Given the description of an element on the screen output the (x, y) to click on. 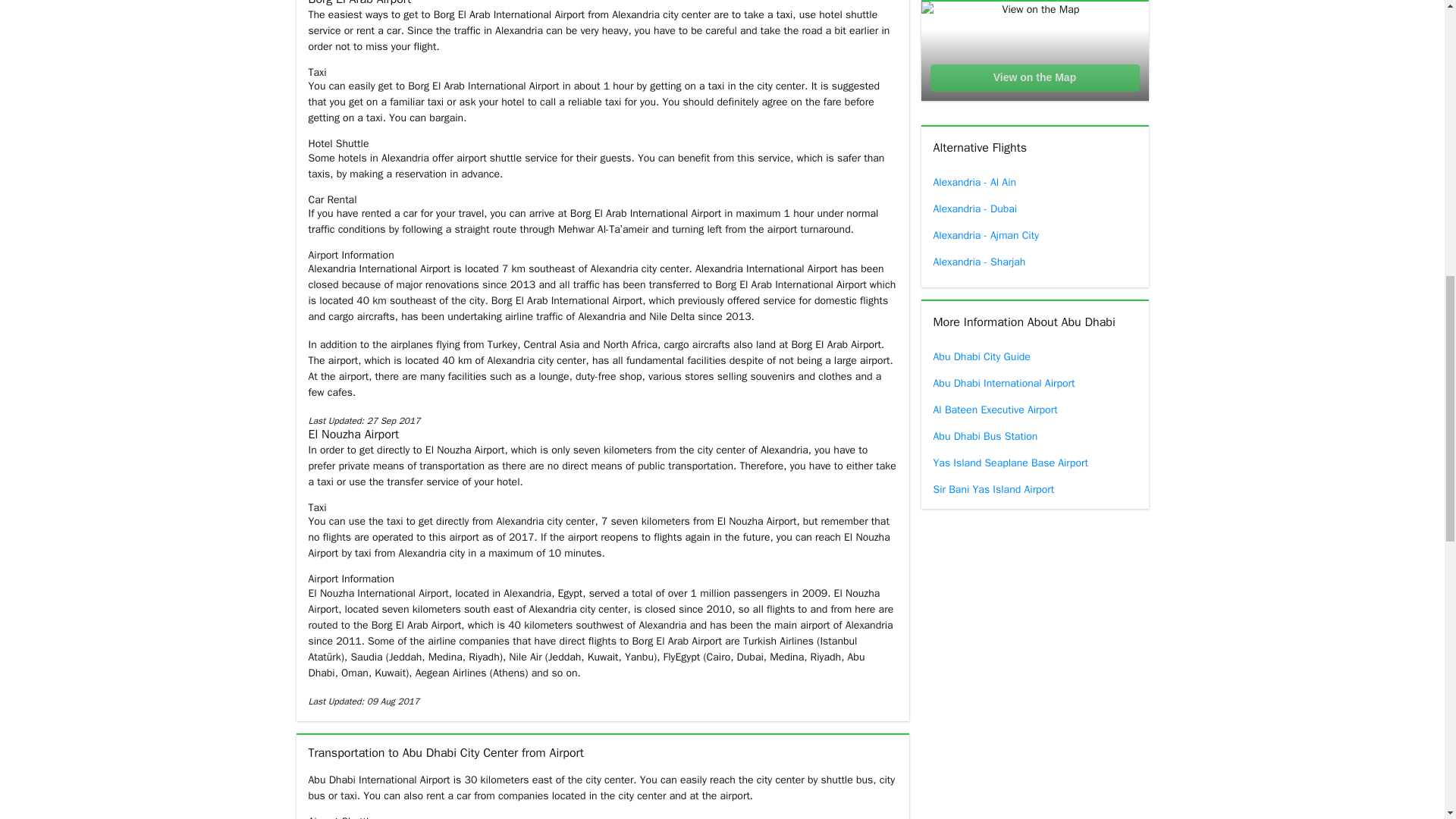
Alexandria - Al Ain (1034, 181)
Abu Dhabi City Guide (1034, 356)
Al Bateen Executive Airport (1034, 409)
Abu Dhabi Bus Station (1034, 436)
Abu Dhabi International Airport (1034, 383)
Alexandria - Ajman City (1034, 234)
Yas Island Seaplane Base Airport (1034, 462)
Sir Bani Yas Island Airport (1034, 488)
Alexandria - Sharjah (1034, 261)
Alexandria - Dubai (1034, 208)
